Given the description of an element on the screen output the (x, y) to click on. 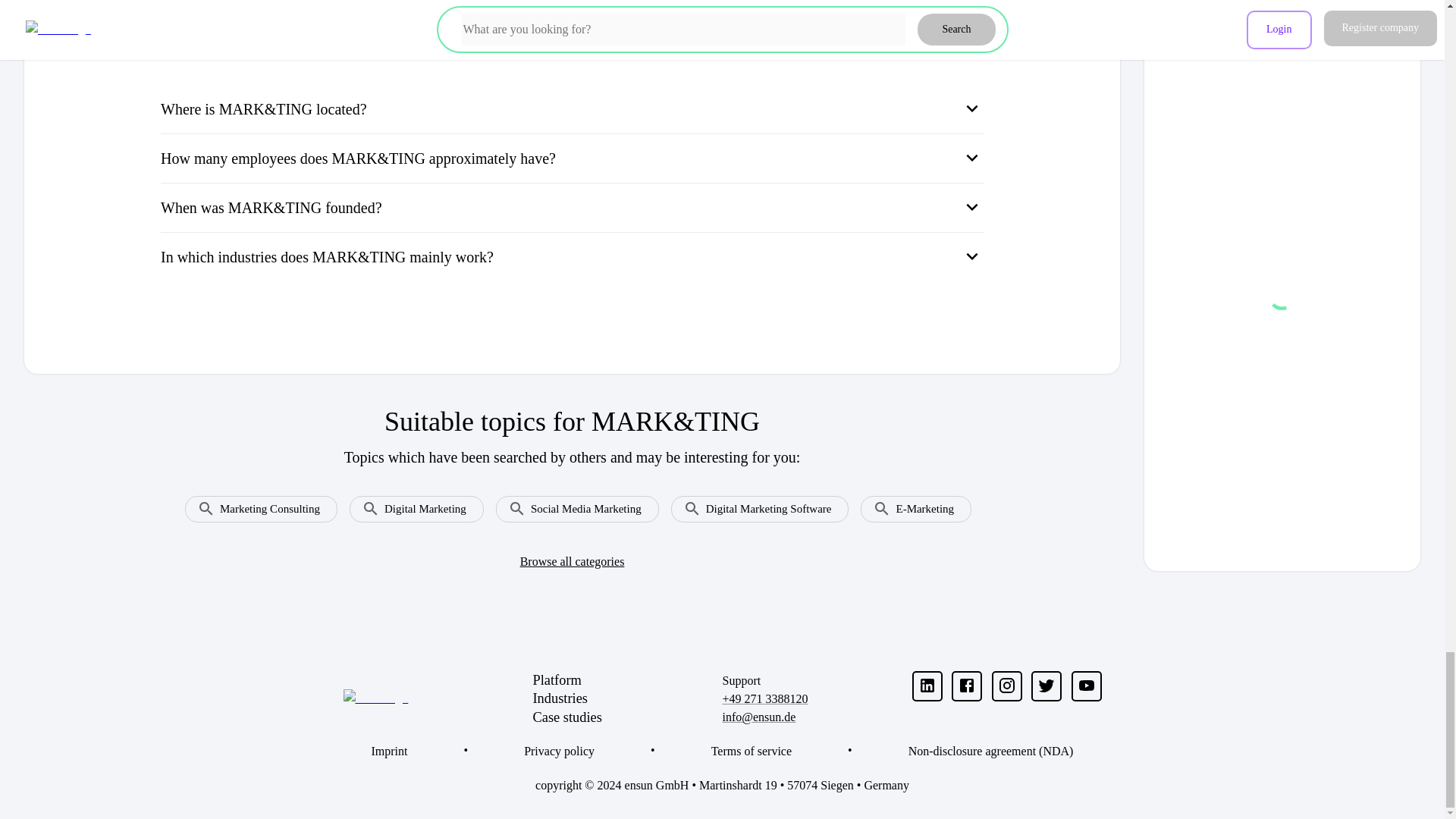
Platform (627, 680)
E-Marketing (909, 503)
Industries (627, 698)
Case studies (627, 717)
Digital Marketing (410, 503)
Browse all categories (571, 561)
Digital Marketing Software (753, 503)
Imprint (389, 751)
Social Media Marketing (571, 503)
Marketing Consulting (255, 503)
